Given the description of an element on the screen output the (x, y) to click on. 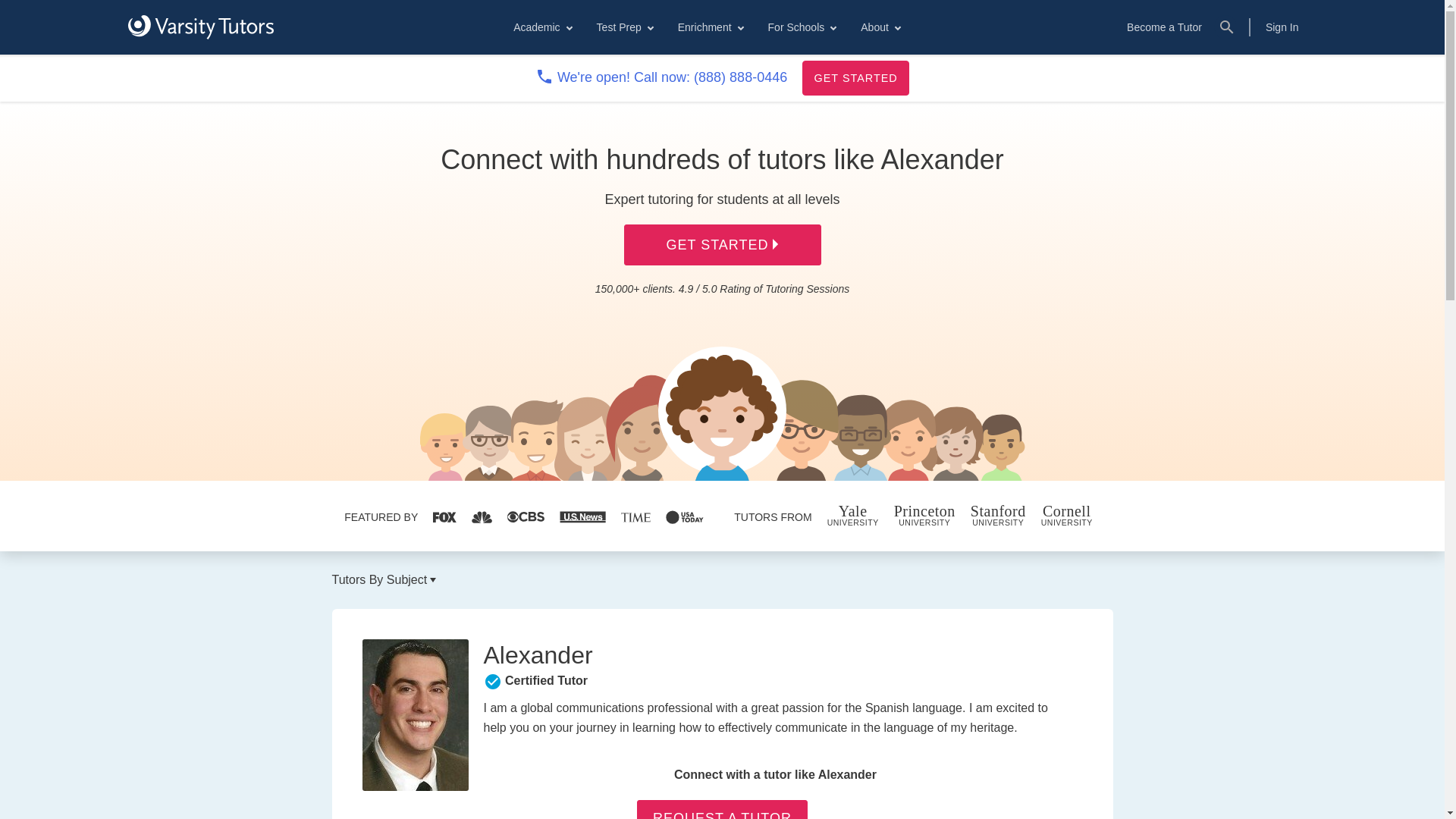
Varsity Tutors (200, 27)
Academic (541, 27)
GET STARTED (855, 77)
Varsity Tutors (200, 26)
